Given the description of an element on the screen output the (x, y) to click on. 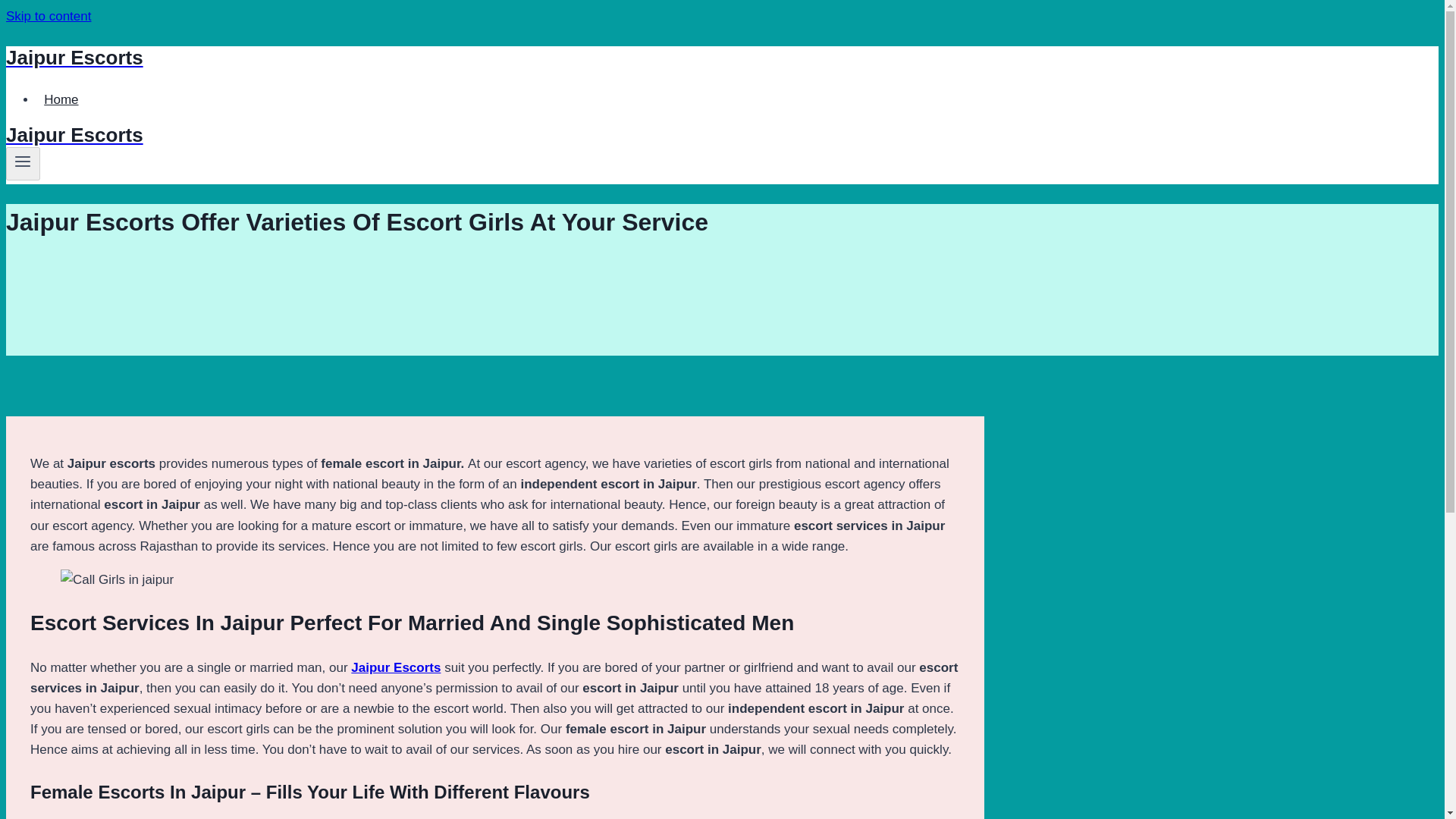
Toggle Menu (22, 163)
Toggle Menu (22, 161)
Jaipur Escorts (395, 667)
Skip to content (47, 16)
Jaipur Escorts (494, 57)
Jaipur Escorts (494, 135)
Skip to content (47, 16)
Home (60, 99)
